Given the description of an element on the screen output the (x, y) to click on. 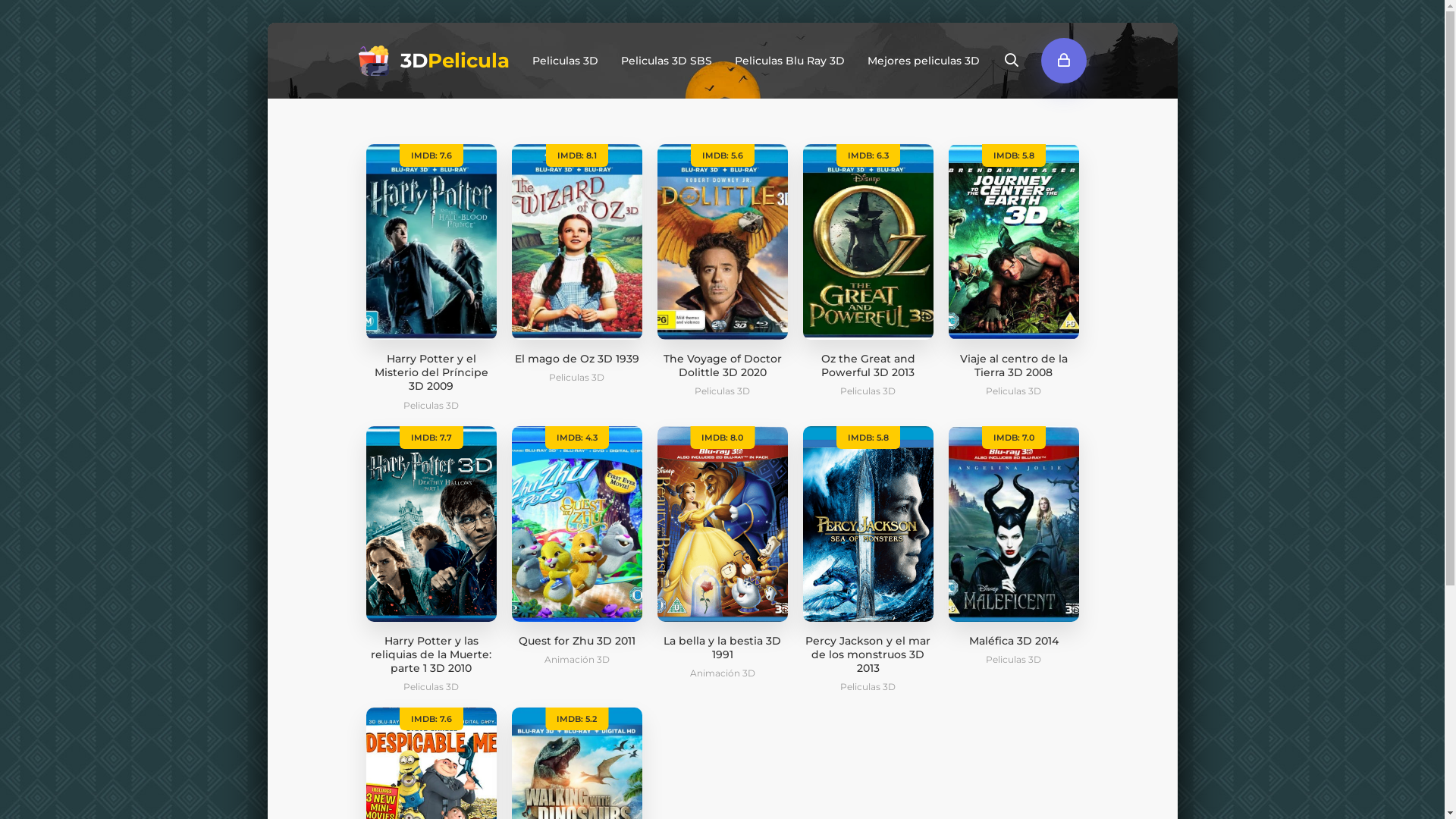
Mejores peliculas 3D Element type: text (923, 60)
IMDB: 5.8
Percy Jackson y el mar de los monstruos 3D 2013 Element type: text (867, 550)
IMDB: 5.8
Viaje al centro de la Tierra 3D 2008 Element type: text (1012, 261)
IMDB: 6.3
Oz the Great and Powerful 3D 2013 Element type: text (867, 261)
IMDB: 4.3
Quest for Zhu 3D 2011 Element type: text (576, 536)
Peliculas 3D Element type: text (565, 60)
IMDB: 8.1
El mago de Oz 3D 1939 Element type: text (576, 254)
IMDB: 5.6
The Voyage of Doctor Dolittle 3D 2020 Element type: text (721, 261)
Peliculas 3D SBS Element type: text (665, 60)
Peliculas Blu Ray 3D Element type: text (789, 60)
3DPelicula Element type: text (432, 60)
IMDB: 8.0
La bella y la bestia 3D 1991 Element type: text (721, 543)
